Given the description of an element on the screen output the (x, y) to click on. 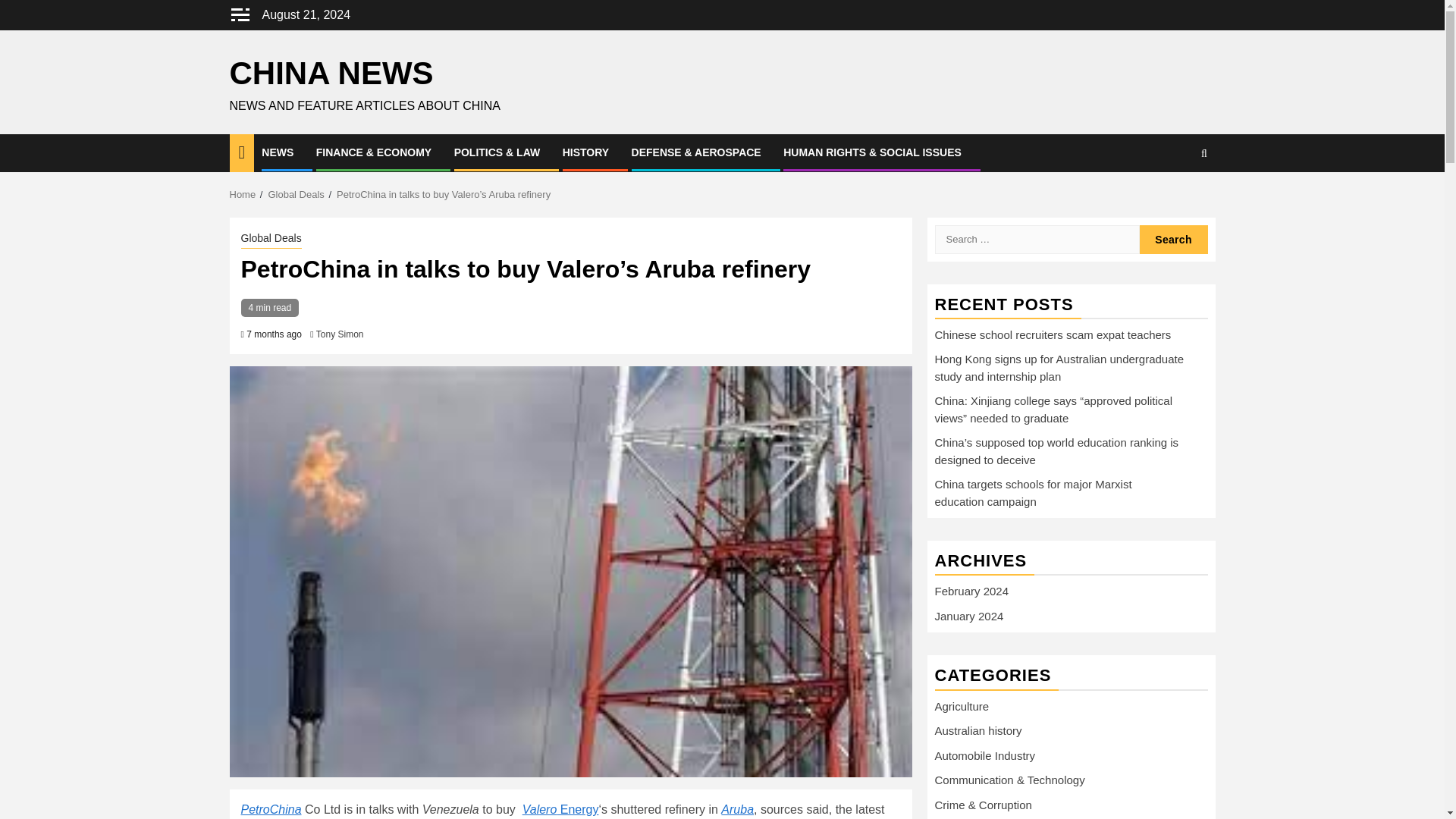
PetroChina (271, 809)
Search (1174, 199)
NEWS (278, 152)
Home (242, 194)
Global Deals (271, 239)
Global Deals (295, 194)
Search (1172, 238)
Search (1172, 238)
Tony Simon (339, 334)
HISTORY (585, 152)
